Given the description of an element on the screen output the (x, y) to click on. 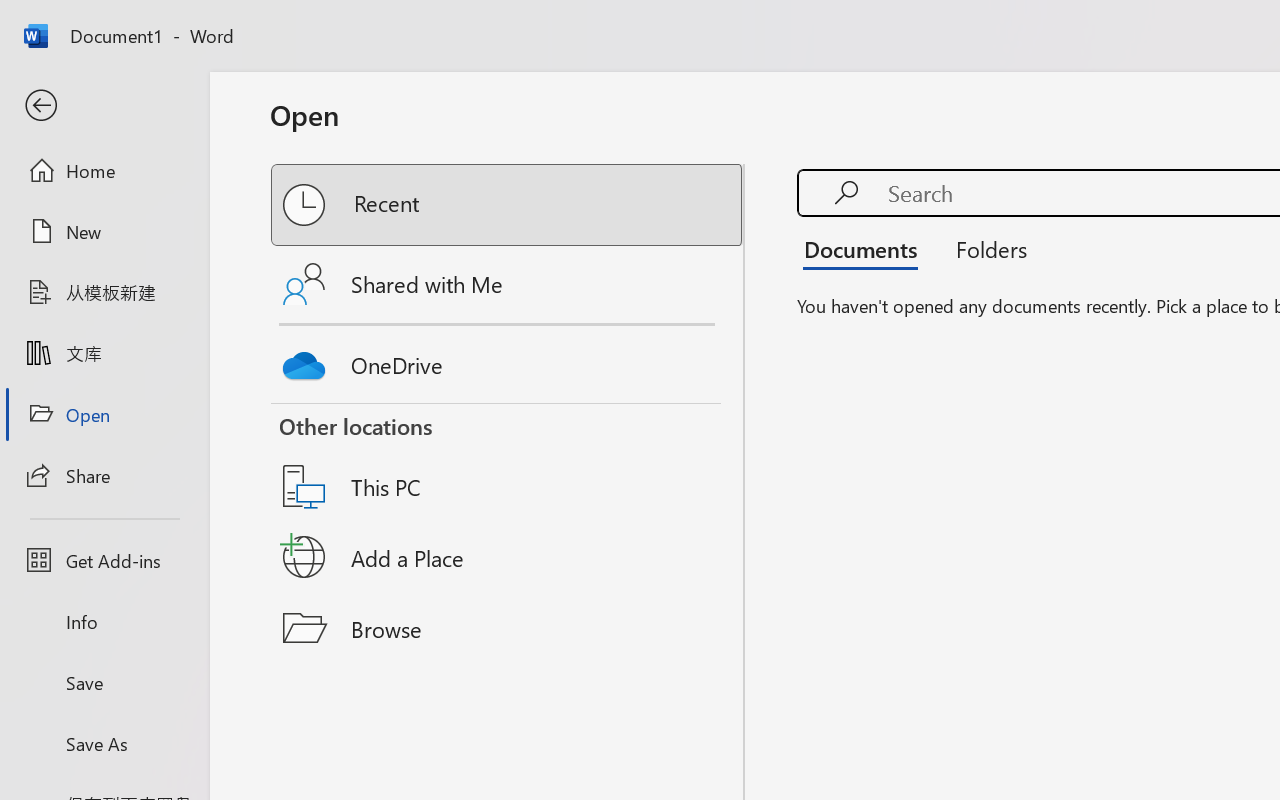
This PC (507, 461)
Folders (984, 248)
Documents (866, 248)
OneDrive (507, 359)
